Given the description of an element on the screen output the (x, y) to click on. 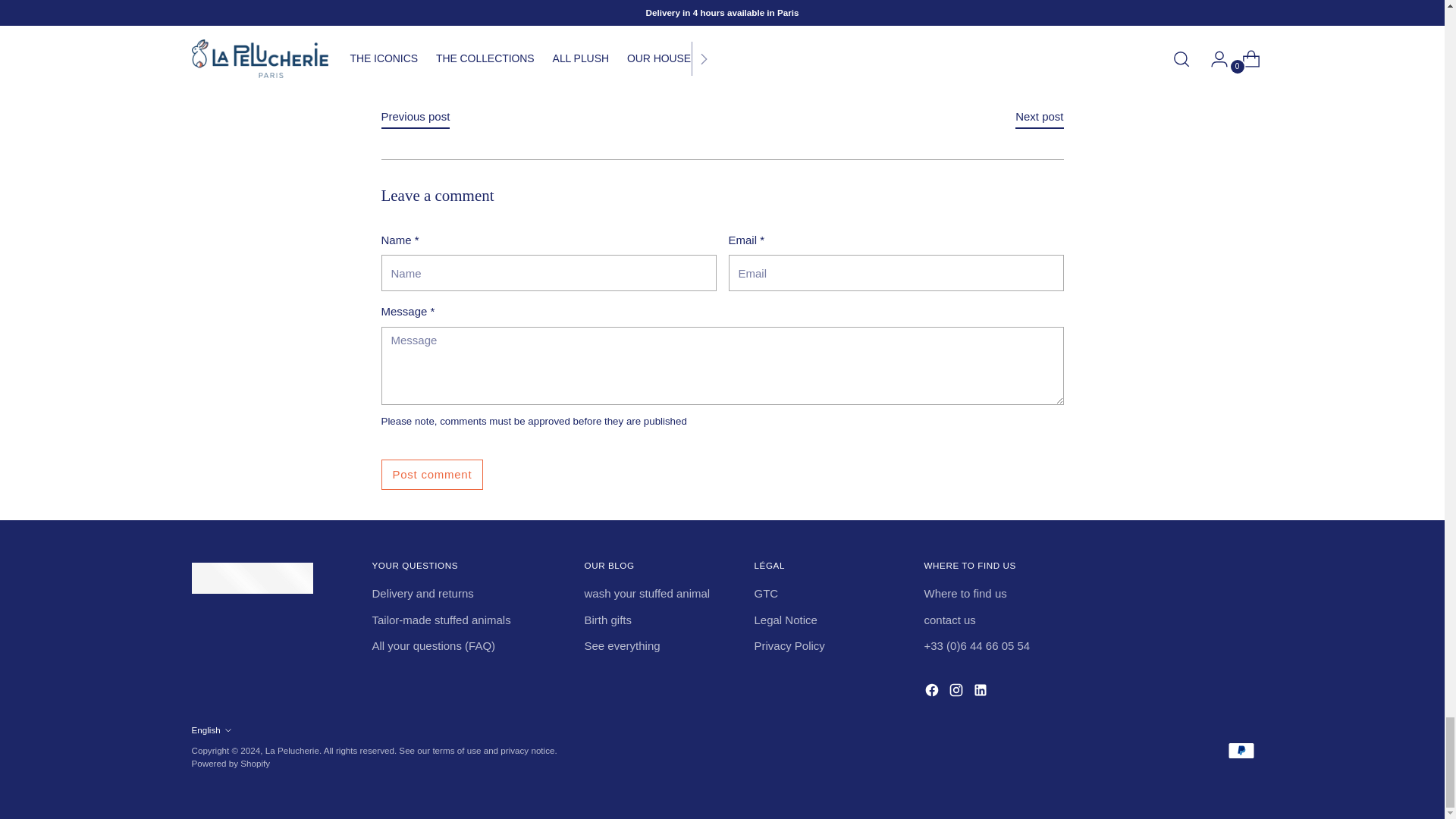
CONTACT US (949, 619)
Where to find us (964, 593)
La Pelucherie on Instagram (956, 692)
